Given the description of an element on the screen output the (x, y) to click on. 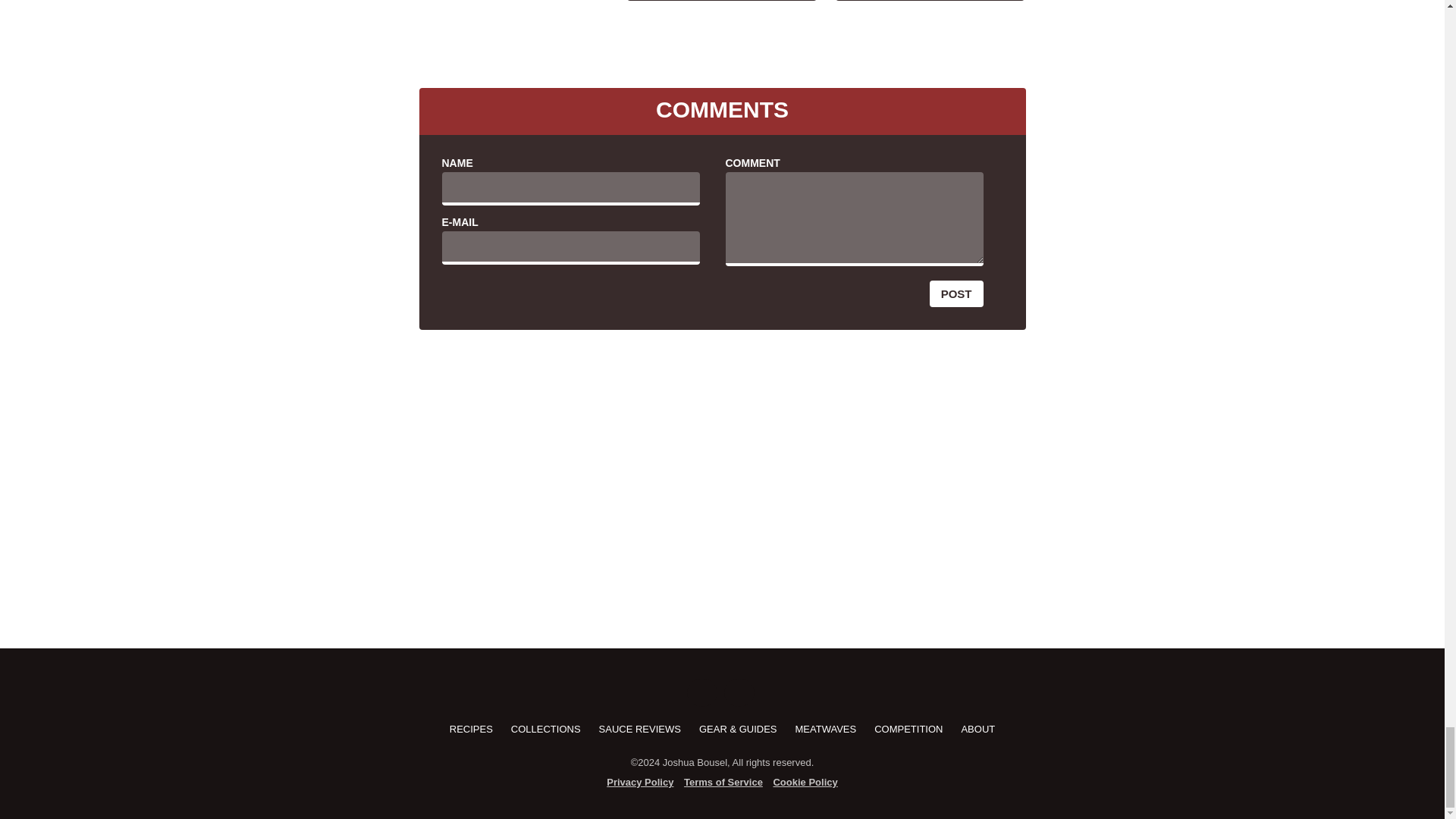
MEATWAVES (825, 728)
COLLECTIONS (545, 728)
COMPETITION (908, 728)
RECIPES (471, 728)
POST (957, 293)
SAUCE REVIEWS (639, 728)
ABOUT (977, 728)
Privacy Policy (639, 782)
